Given the description of an element on the screen output the (x, y) to click on. 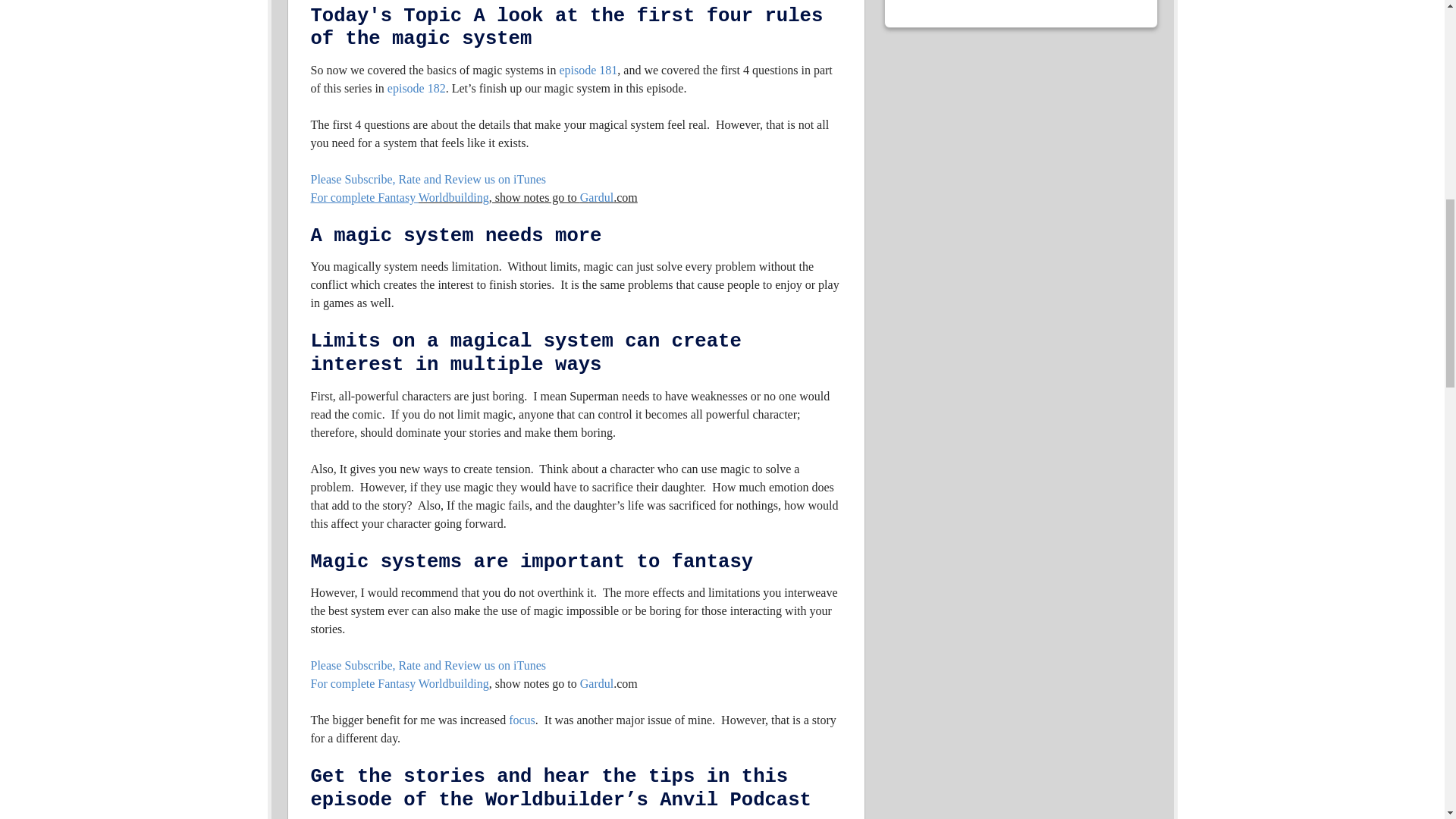
episode 182 (416, 88)
Gardul (595, 196)
For complete Fantasy  (365, 683)
Worldbuilding (454, 196)
Gardul (595, 683)
Worldbuilding (454, 683)
Please Subscribe, Rate and Review us on iTunes (428, 178)
episode 181 (588, 69)
Please Subscribe, Rate and Review us on iTunes (428, 665)
For complete Fantasy  (365, 196)
